Given the description of an element on the screen output the (x, y) to click on. 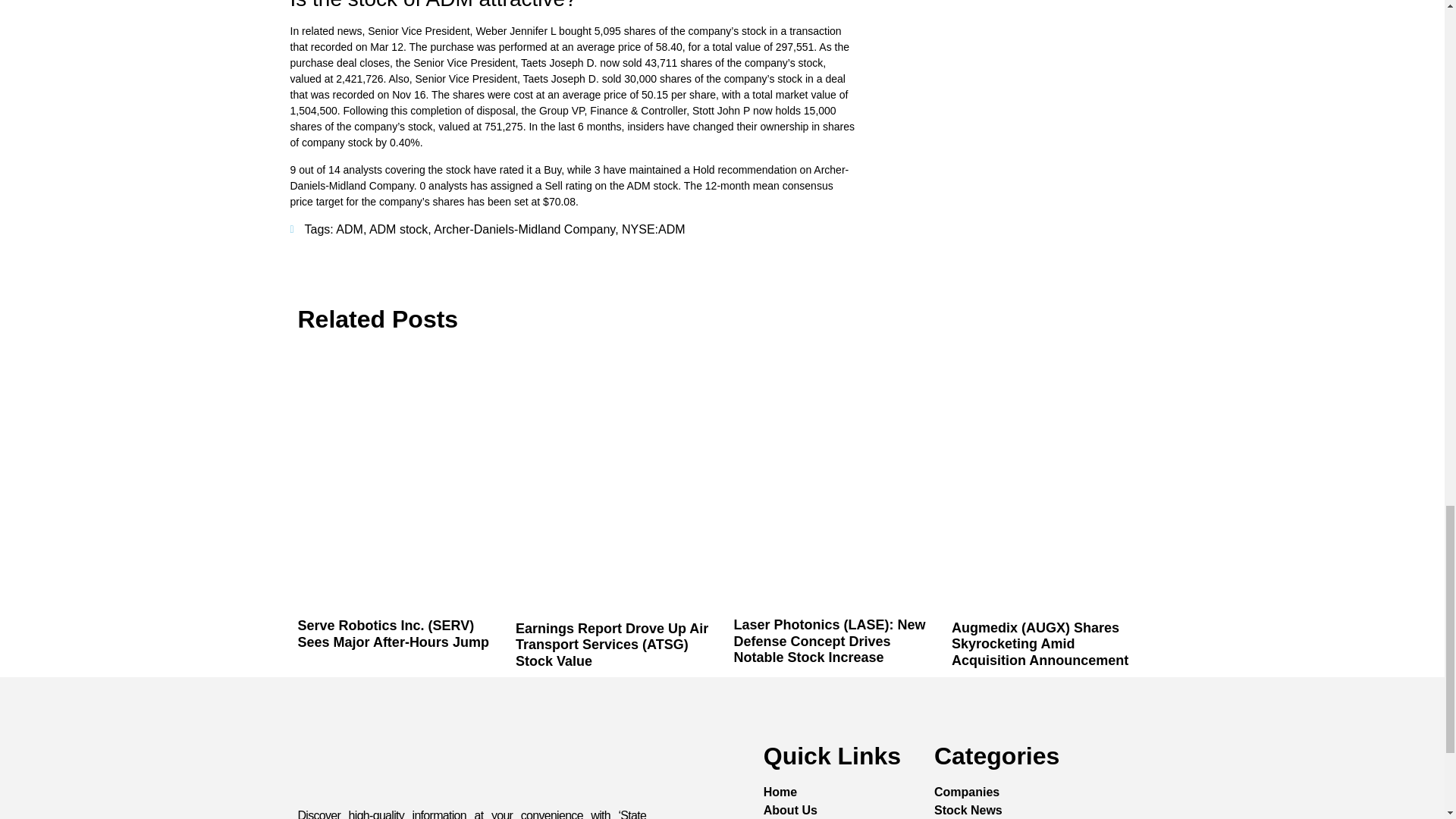
NYSE:ADM (653, 228)
ADM stock (398, 228)
Stock News (968, 810)
About Us (789, 810)
Archer-Daniels-Midland Company (523, 228)
Home (779, 791)
Companies (966, 791)
ADM (349, 228)
